Given the description of an element on the screen output the (x, y) to click on. 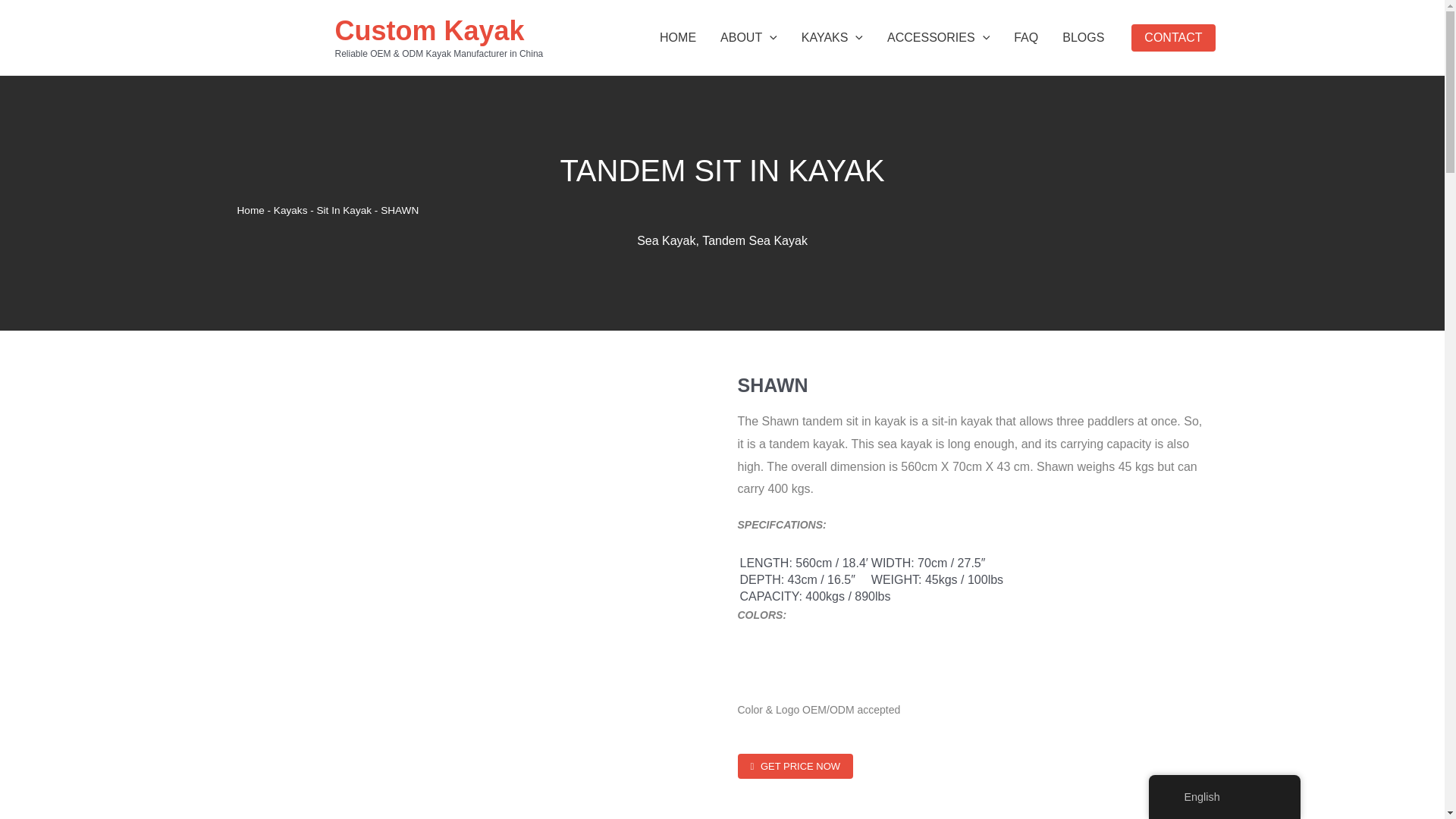
FAQ (1025, 36)
KAYAKS (832, 36)
CONTACT (1172, 37)
ABOUT (748, 36)
BLOGS (1082, 36)
ACCESSORIES (938, 36)
Custom Kayak (429, 30)
HOME (677, 36)
English (1172, 796)
